Given the description of an element on the screen output the (x, y) to click on. 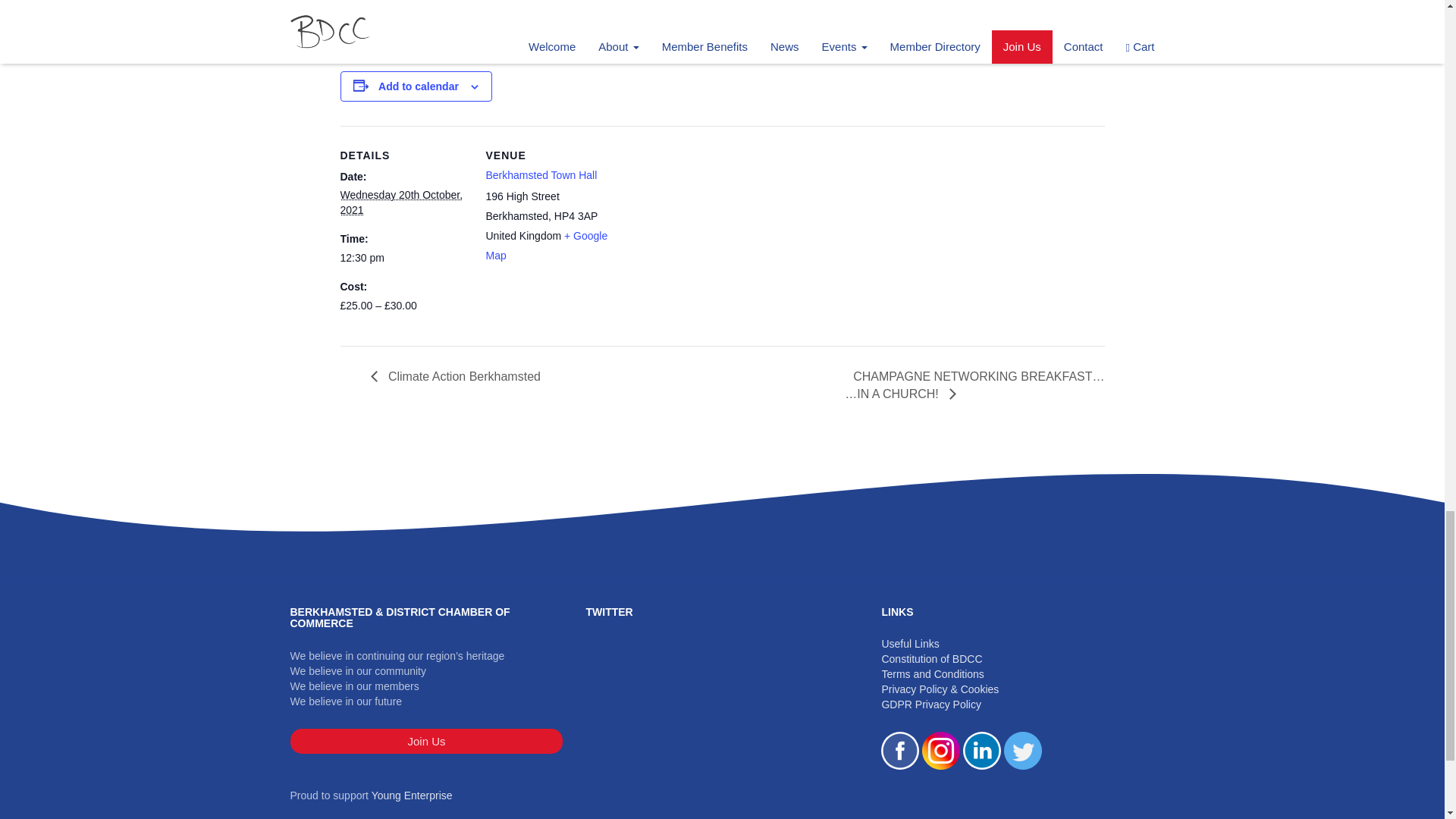
Join Us (425, 740)
Young Enterprise (411, 795)
Berkhamsted Town Hall (540, 174)
Climate Action Berkhamsted (458, 376)
Add to calendar (418, 86)
GDPR Privacy Policy (929, 704)
Terms and Conditions (932, 674)
Constitution of BDCC (930, 658)
Useful Links (909, 644)
